Given the description of an element on the screen output the (x, y) to click on. 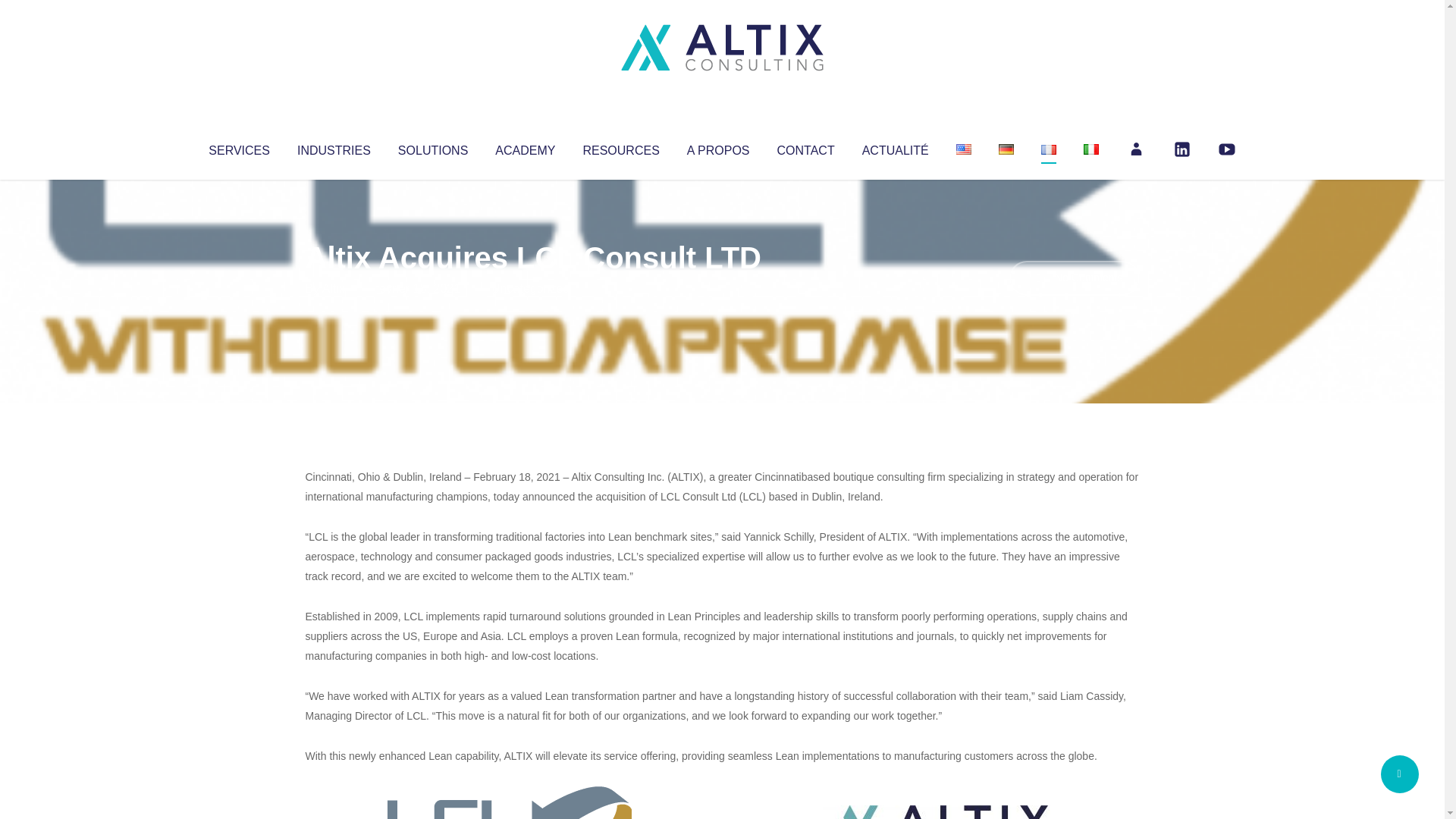
Articles par Altix (333, 287)
ACADEMY (524, 146)
Altix (333, 287)
No Comments (1073, 278)
A PROPOS (718, 146)
RESOURCES (620, 146)
Uncategorized (530, 287)
SOLUTIONS (432, 146)
SERVICES (238, 146)
INDUSTRIES (334, 146)
